Given the description of an element on the screen output the (x, y) to click on. 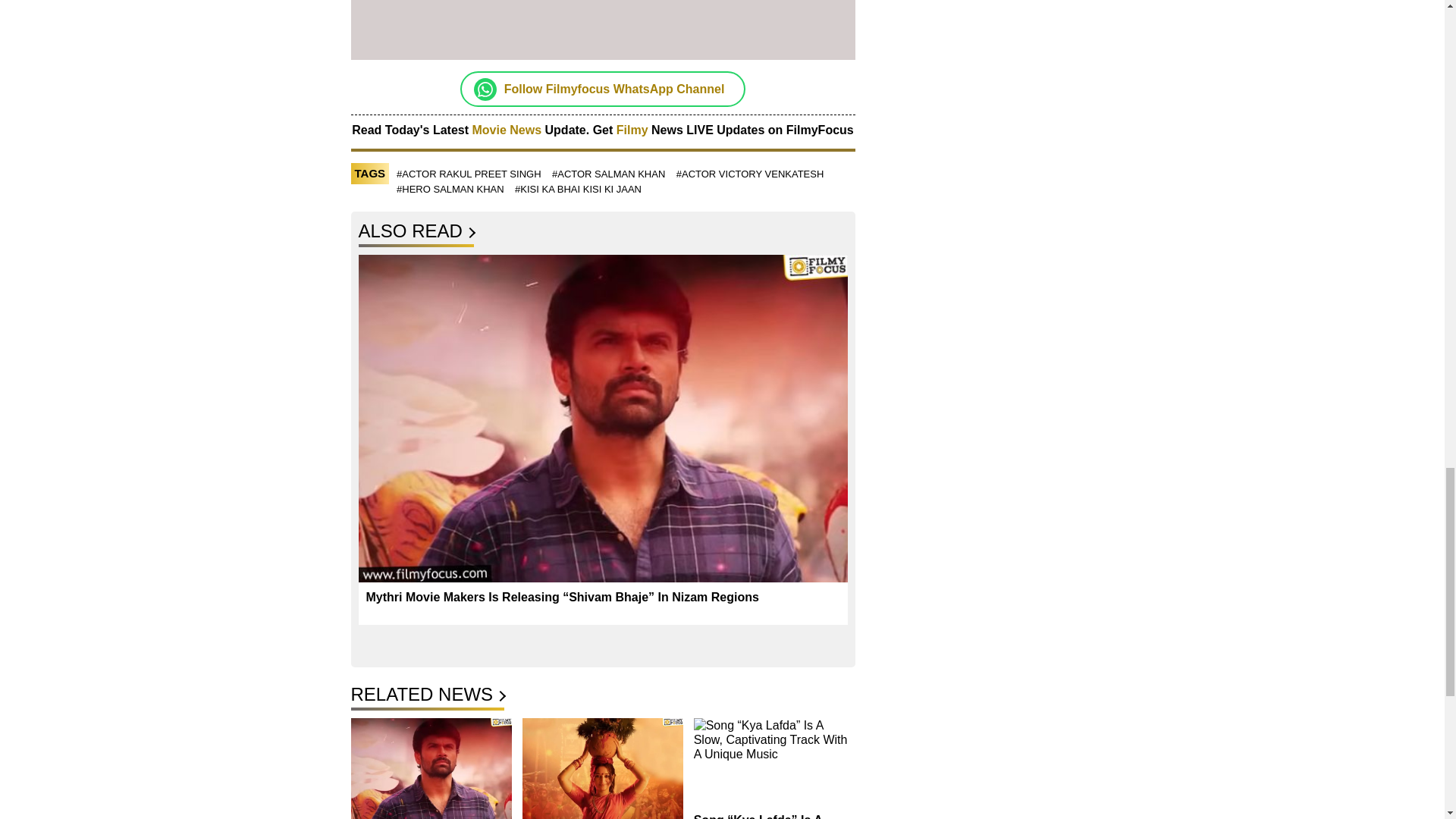
Movie News (506, 129)
Follow Filmyfocus WhatsApp Channel (614, 89)
Filmy (632, 129)
